Given the description of an element on the screen output the (x, y) to click on. 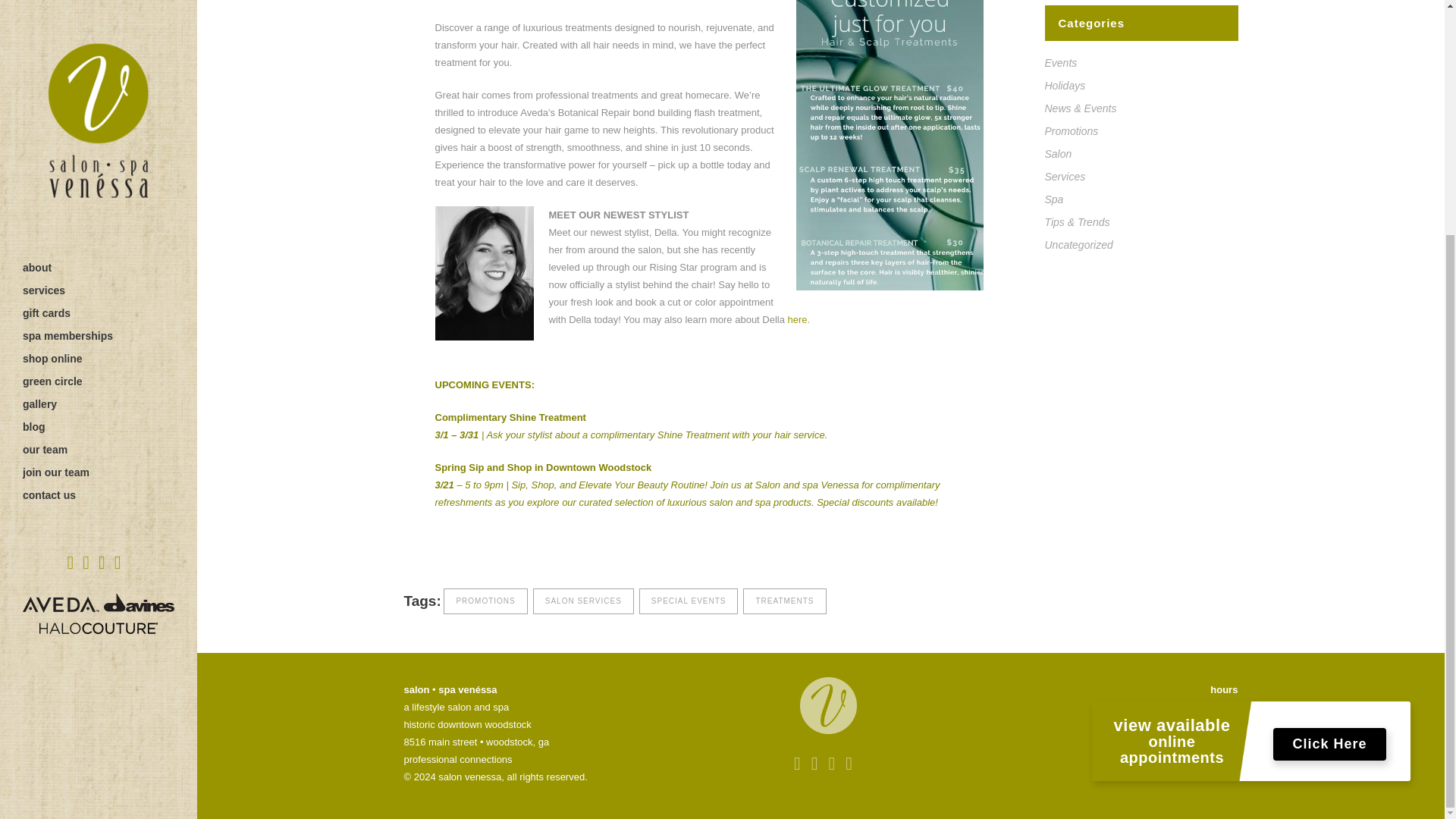
green circle (98, 61)
contact us (98, 175)
gallery (98, 84)
spa memberships (98, 15)
blog (98, 107)
shop online (98, 38)
gift cards (98, 2)
join our team (98, 152)
our team (98, 129)
Click Here (1329, 503)
